Given the description of an element on the screen output the (x, y) to click on. 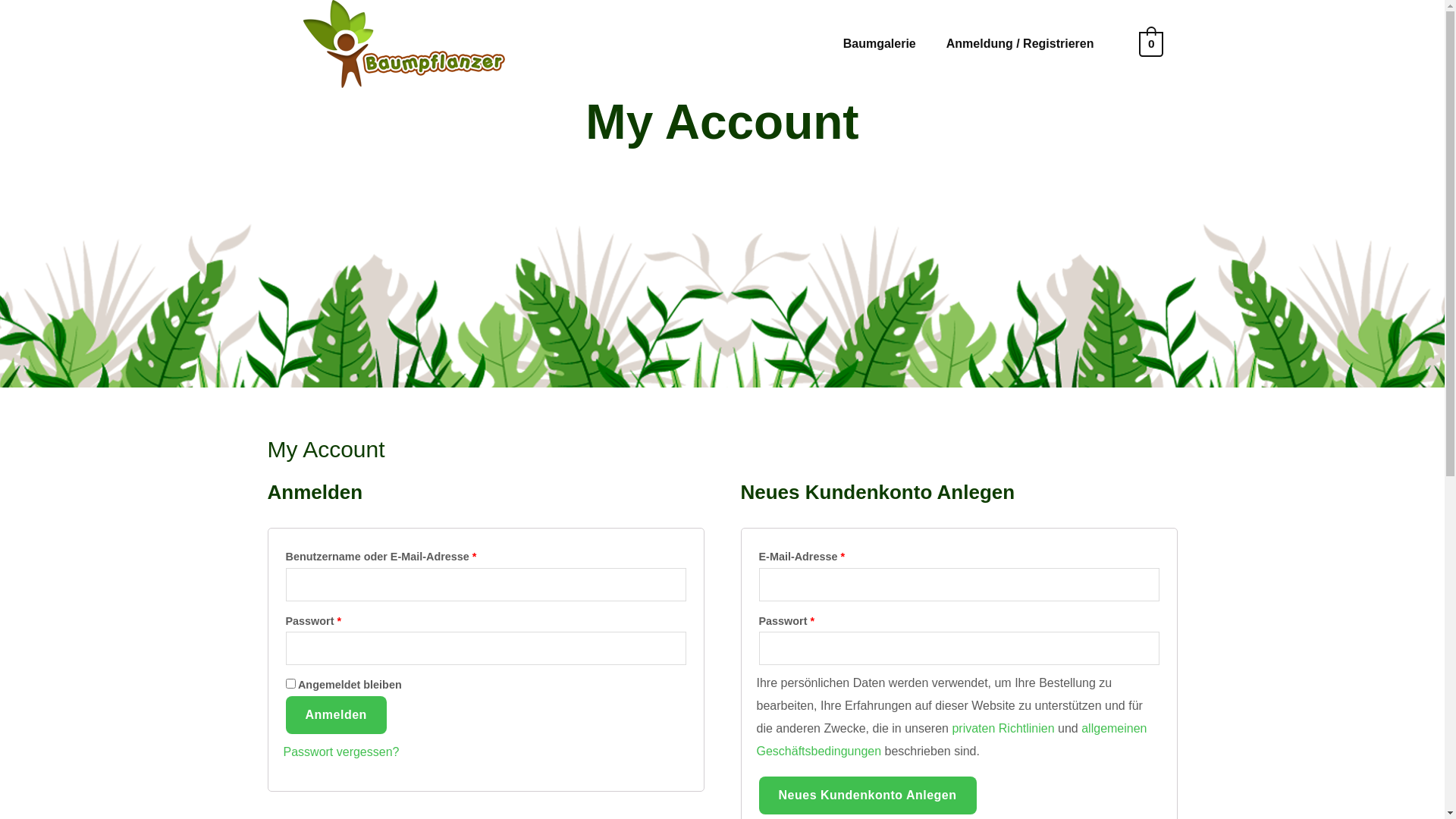
0 Element type: text (1151, 42)
My Account Element type: text (721, 121)
Passwort vergessen? Element type: text (341, 751)
Baumgalerie Element type: text (879, 43)
Neues Kundenkonto Anlegen Element type: text (866, 795)
Anmeldung / Registrieren Element type: text (1020, 43)
privaten Richtlinien Element type: text (1002, 727)
Anmelden Element type: text (335, 715)
